Given the description of an element on the screen output the (x, y) to click on. 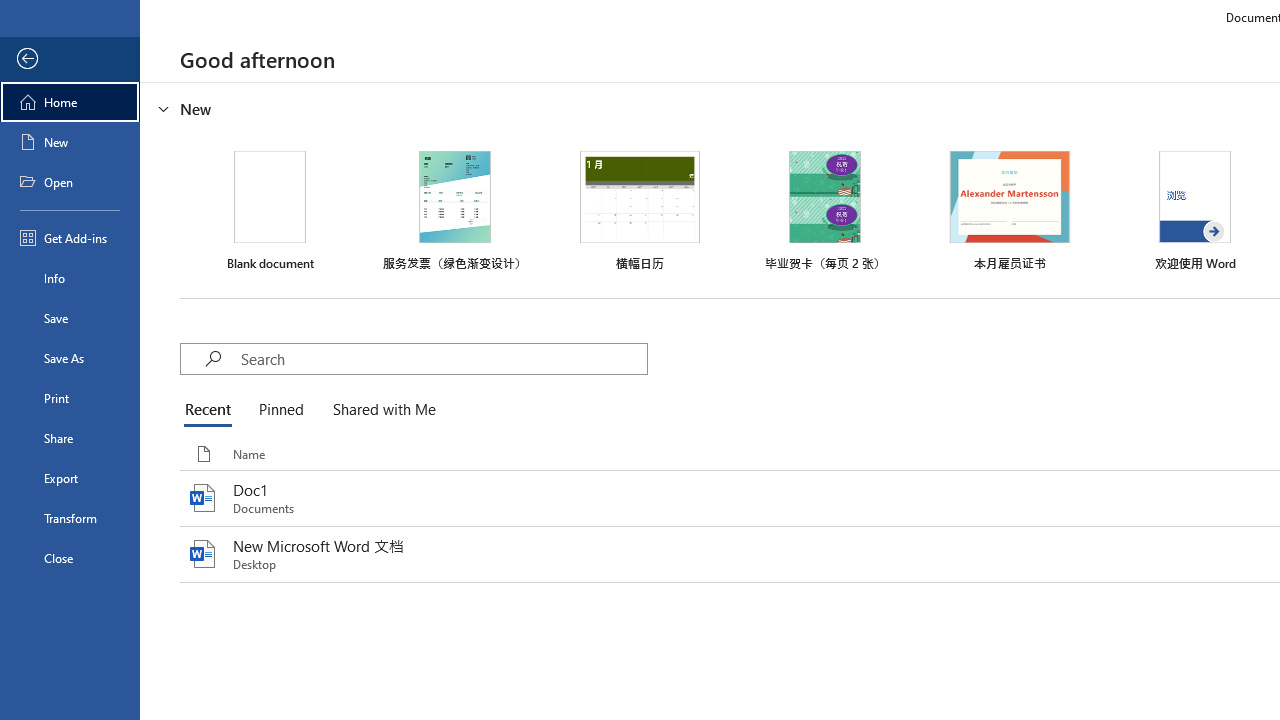
Save As (69, 357)
Export (69, 477)
Recent (212, 410)
Shared with Me (379, 410)
Get Add-ins (69, 237)
Share (69, 437)
Back (69, 59)
Transform (69, 517)
Pinned (280, 410)
Open (69, 182)
Search (443, 358)
